Given the description of an element on the screen output the (x, y) to click on. 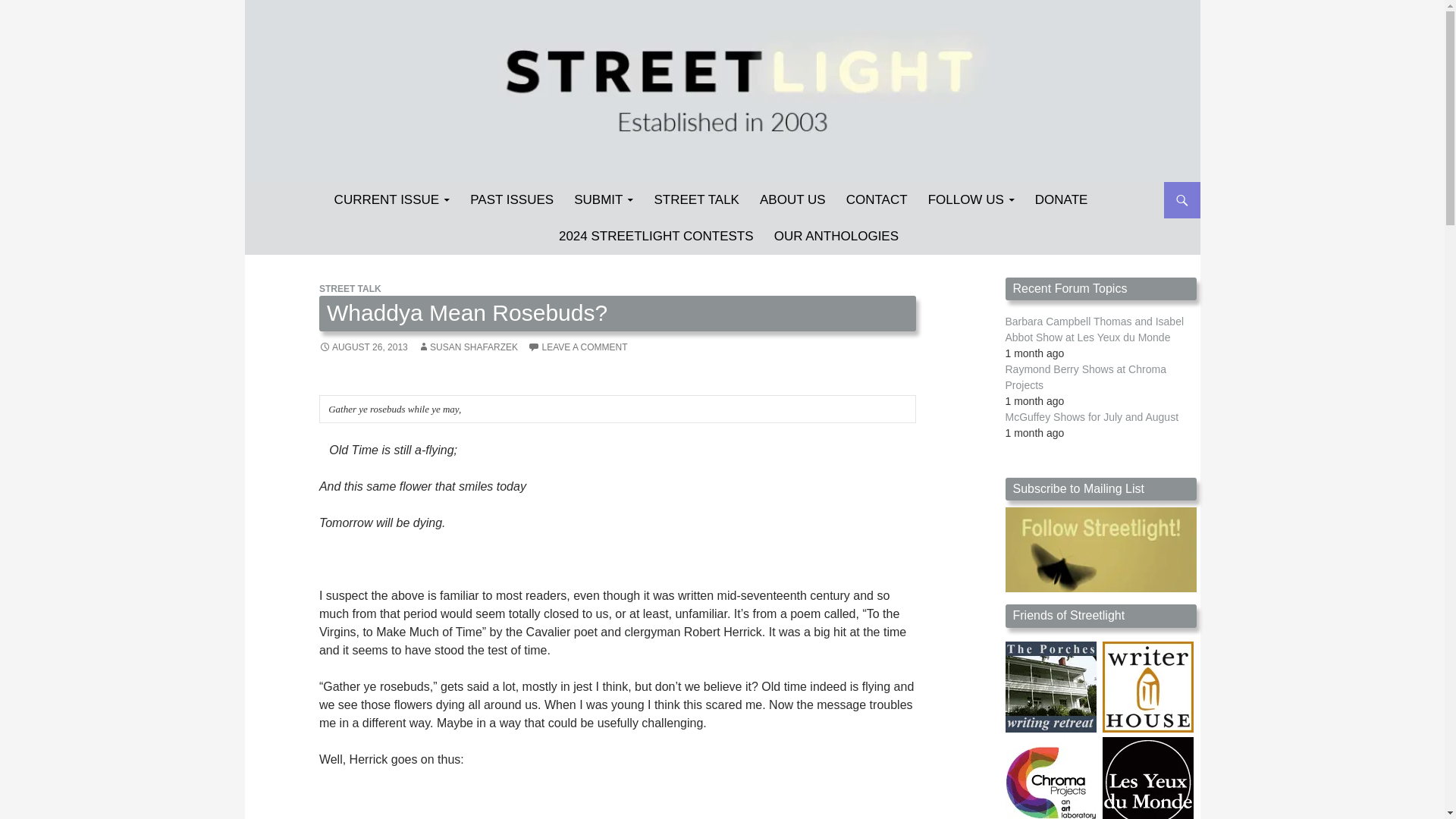
LEAVE A COMMENT (577, 347)
STREET TALK (349, 288)
AUGUST 26, 2013 (362, 347)
OUR ANTHOLOGIES (836, 236)
CONTACT (877, 199)
ABOUT US (792, 199)
STREET TALK (696, 199)
CURRENT ISSUE (392, 199)
Streetlight Magazine (332, 199)
SUBMIT (603, 199)
2024 STREETLIGHT CONTESTS (656, 236)
SUSAN SHAFARZEK (467, 347)
FOLLOW US (970, 199)
PAST ISSUES (511, 199)
